Given the description of an element on the screen output the (x, y) to click on. 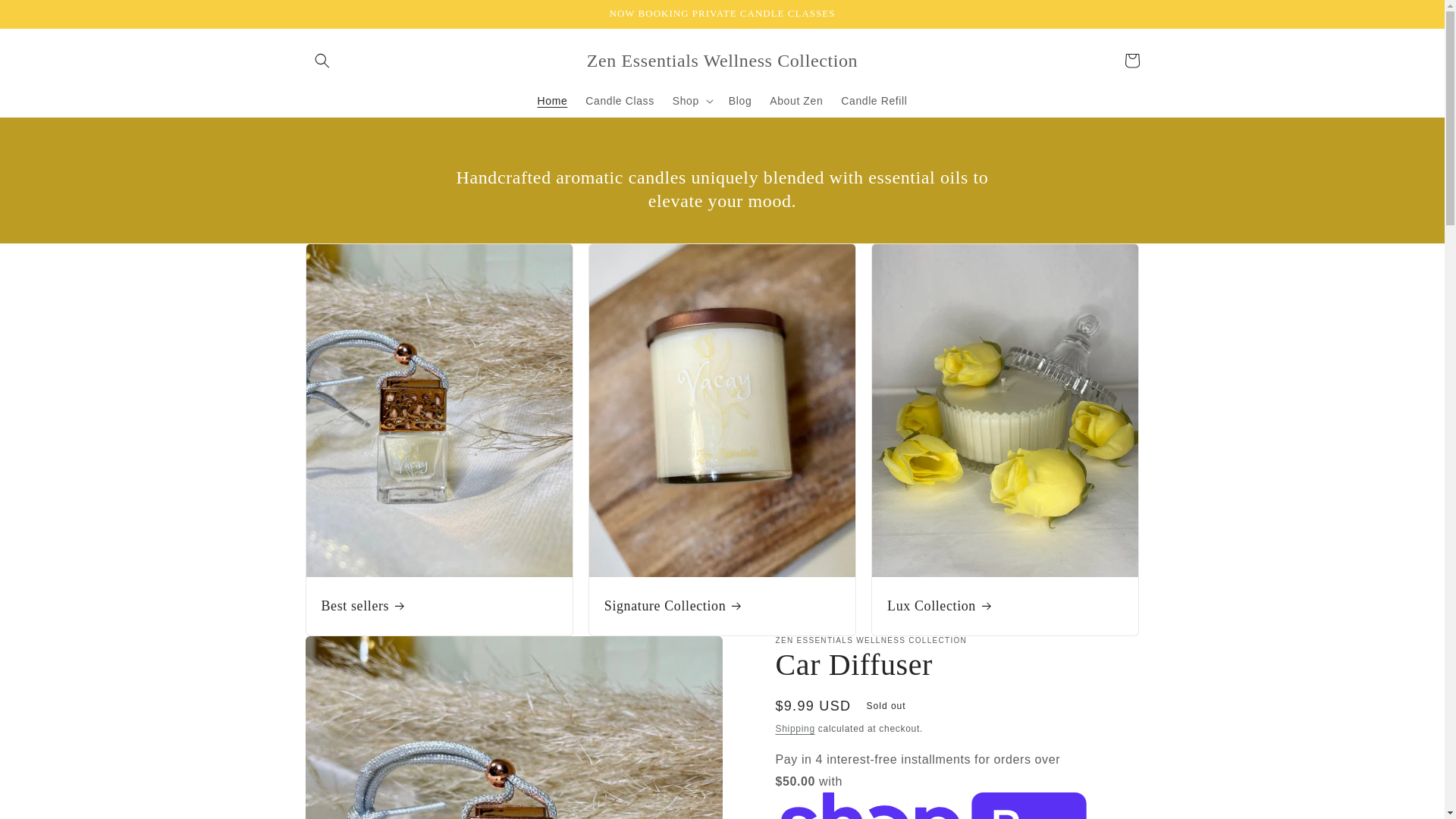
Skip to content (45, 17)
Candle Refill (873, 101)
Best sellers (439, 606)
About Zen (795, 101)
Signature Collection (722, 606)
Blog (739, 101)
Candle Class (619, 101)
Home (552, 101)
Zen Essentials Wellness Collection (721, 60)
Lux Collection (1004, 606)
Cart (1131, 60)
